Given the description of an element on the screen output the (x, y) to click on. 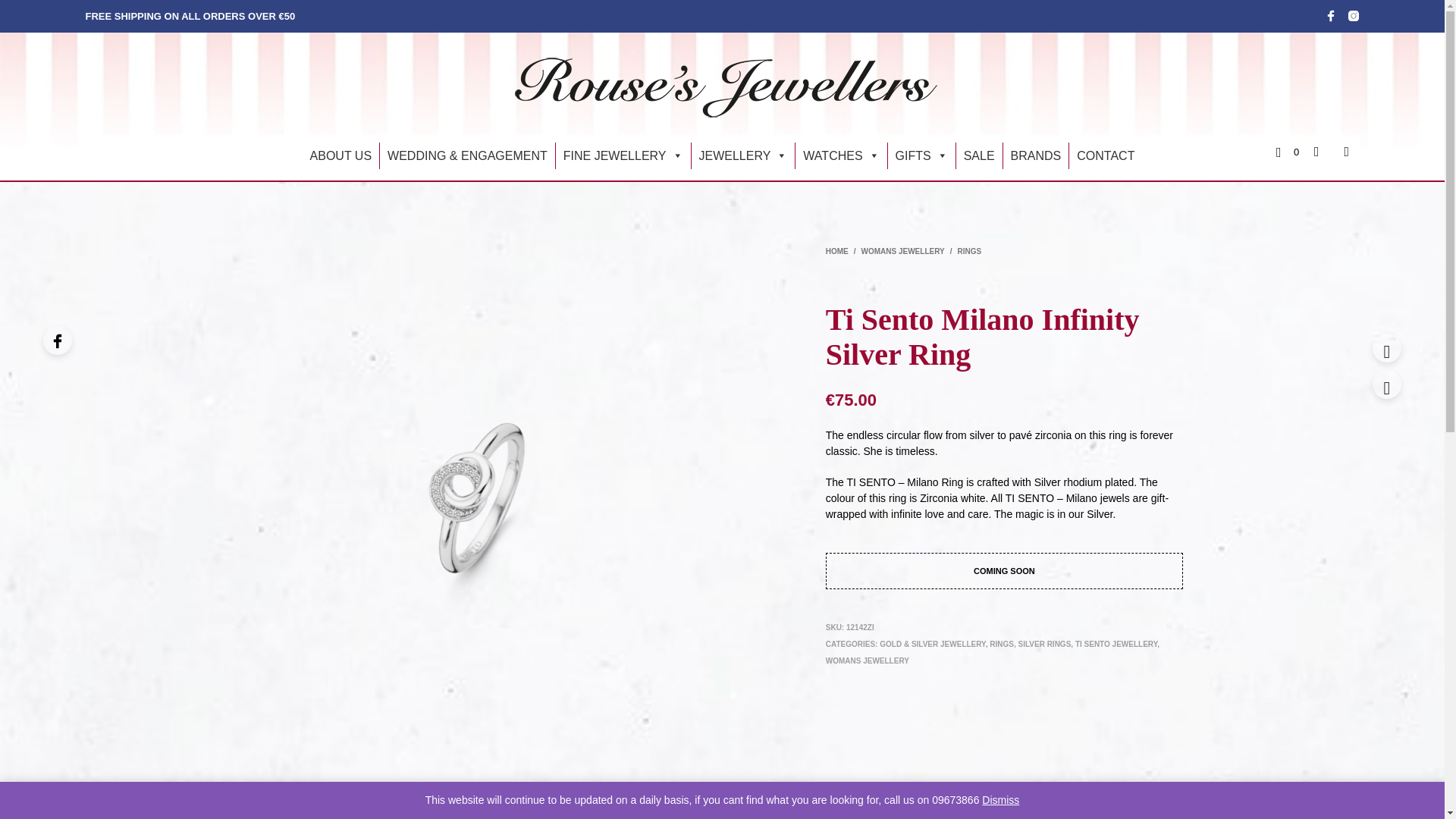
ABOUT US (341, 155)
JEWELLERY (742, 155)
FINE JEWELLERY (623, 155)
WATCHES (840, 155)
